Given the description of an element on the screen output the (x, y) to click on. 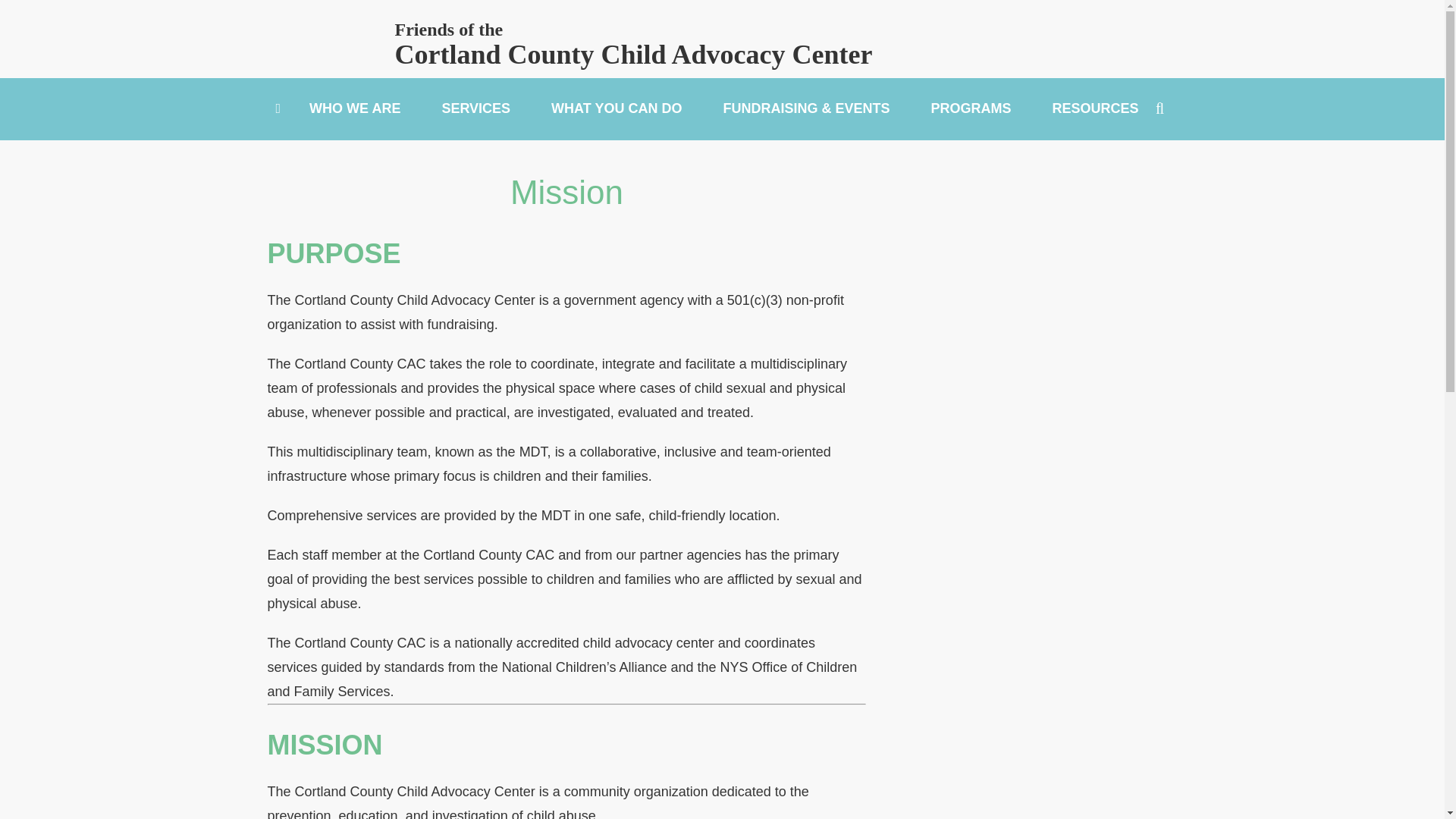
SERVICES (475, 108)
WHAT YOU CAN DO (616, 108)
WHO WE ARE (354, 108)
PROGRAMS (970, 108)
